Given the description of an element on the screen output the (x, y) to click on. 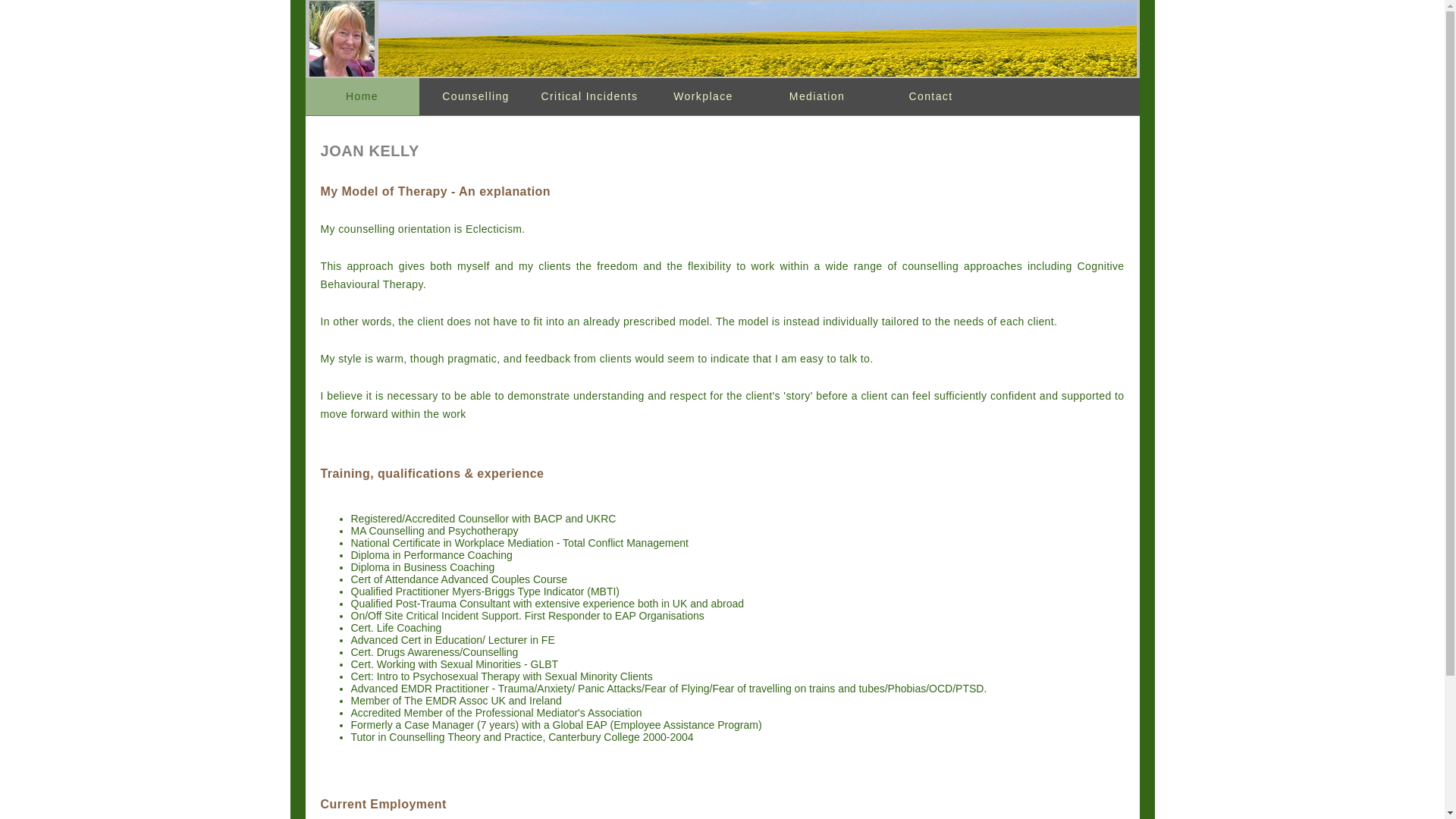
Home (361, 96)
Counselling (475, 96)
Workplace (703, 96)
Critical Incidents (589, 96)
Mediation (816, 96)
Contact (930, 96)
